Given the description of an element on the screen output the (x, y) to click on. 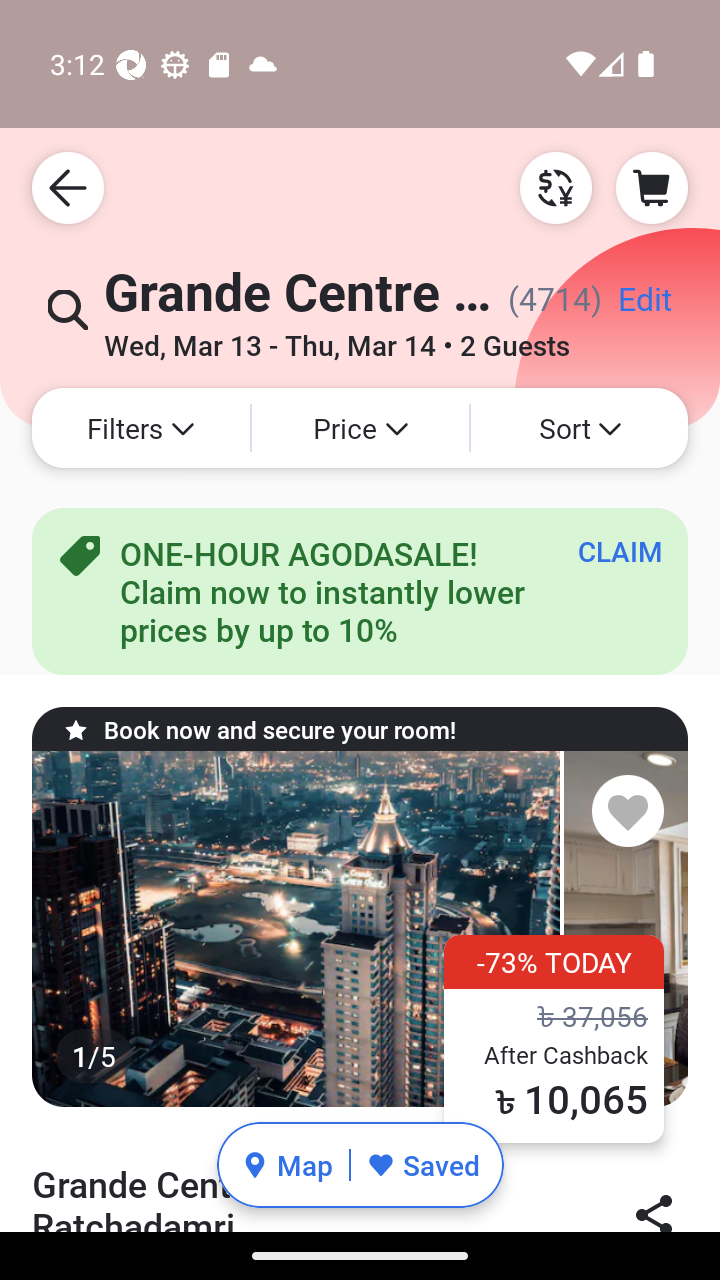
Edit (644, 306)
Wed, Mar 13 - Thu, Mar 14 • 2 Guests (336, 338)
Filters (140, 428)
Price (359, 428)
Sort (579, 428)
CLAIM (620, 551)
1/5 (359, 929)
-73% TODAY ‪৳ 37,056 After Cashback ‪৳ 10,065 (553, 1038)
Map Saved (359, 1165)
